Given the description of an element on the screen output the (x, y) to click on. 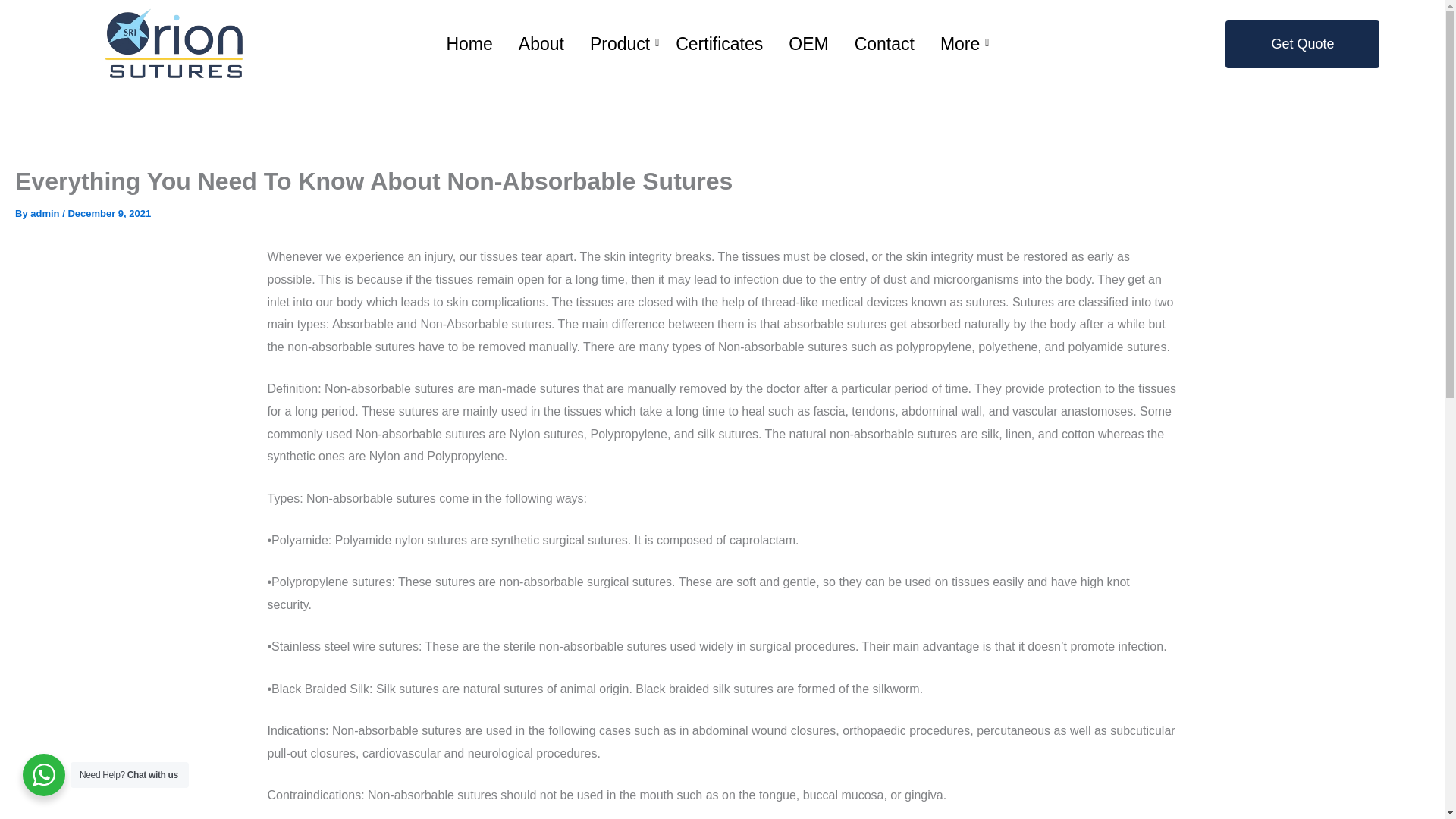
OEM (807, 44)
Home (469, 44)
Contact (884, 44)
More (959, 44)
About (541, 44)
View all posts by admin (46, 213)
Get Quote (1301, 43)
Certificates (718, 44)
Product (620, 44)
wpforms-submit (721, 562)
